Given the description of an element on the screen output the (x, y) to click on. 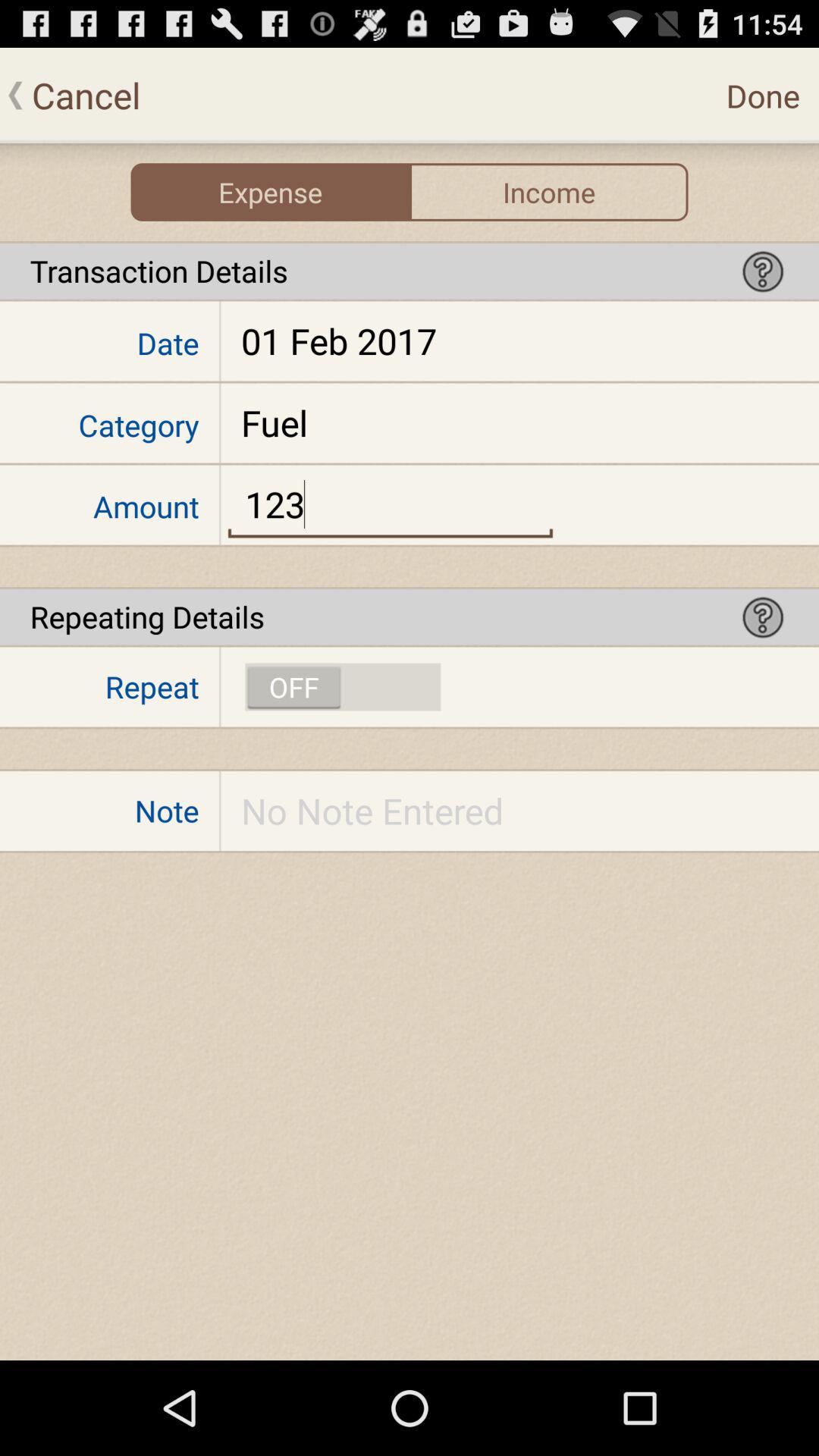
show informations about the option (762, 271)
